Given the description of an element on the screen output the (x, y) to click on. 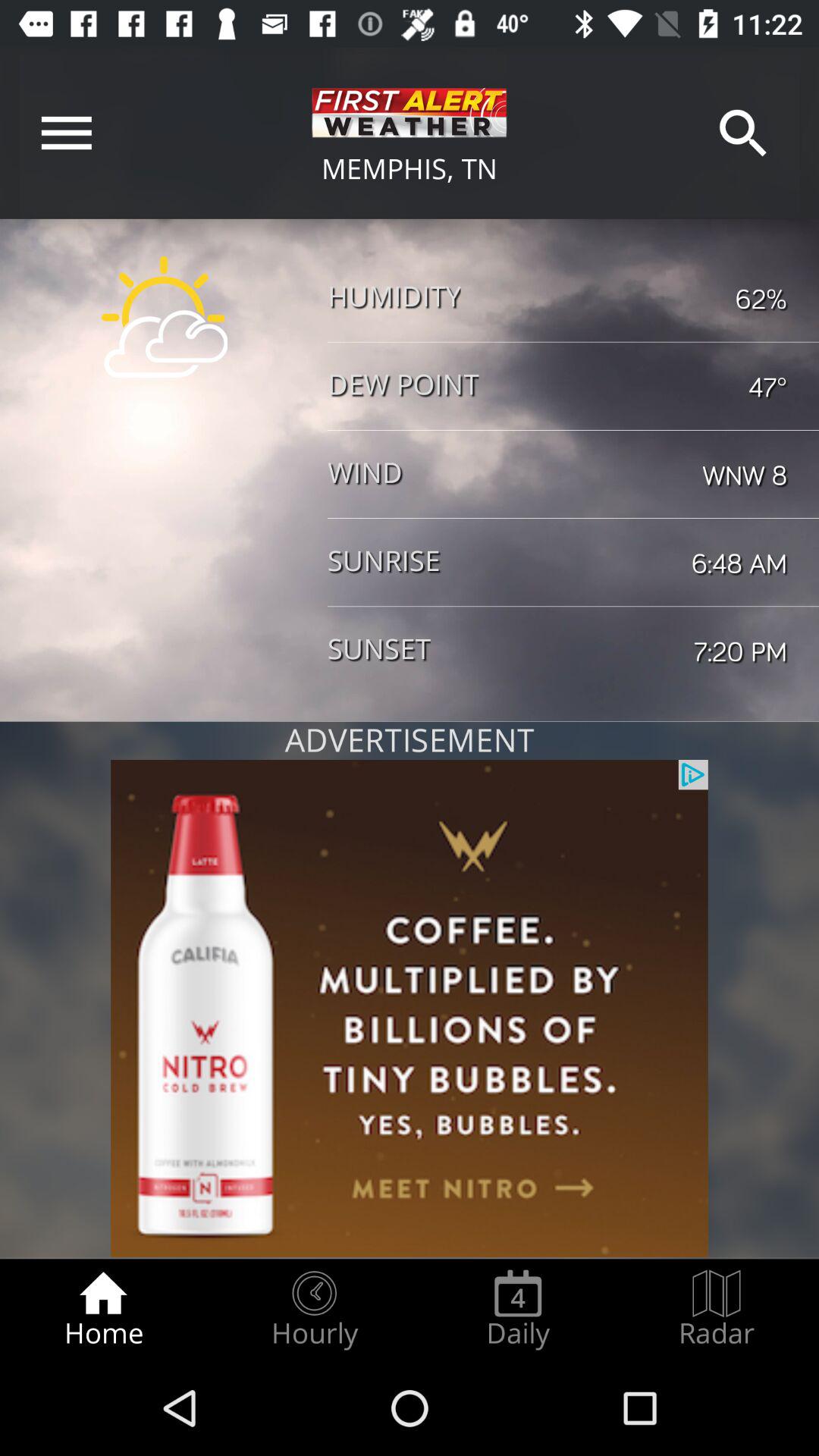
turn off item to the left of the hourly radio button (103, 1309)
